Given the description of an element on the screen output the (x, y) to click on. 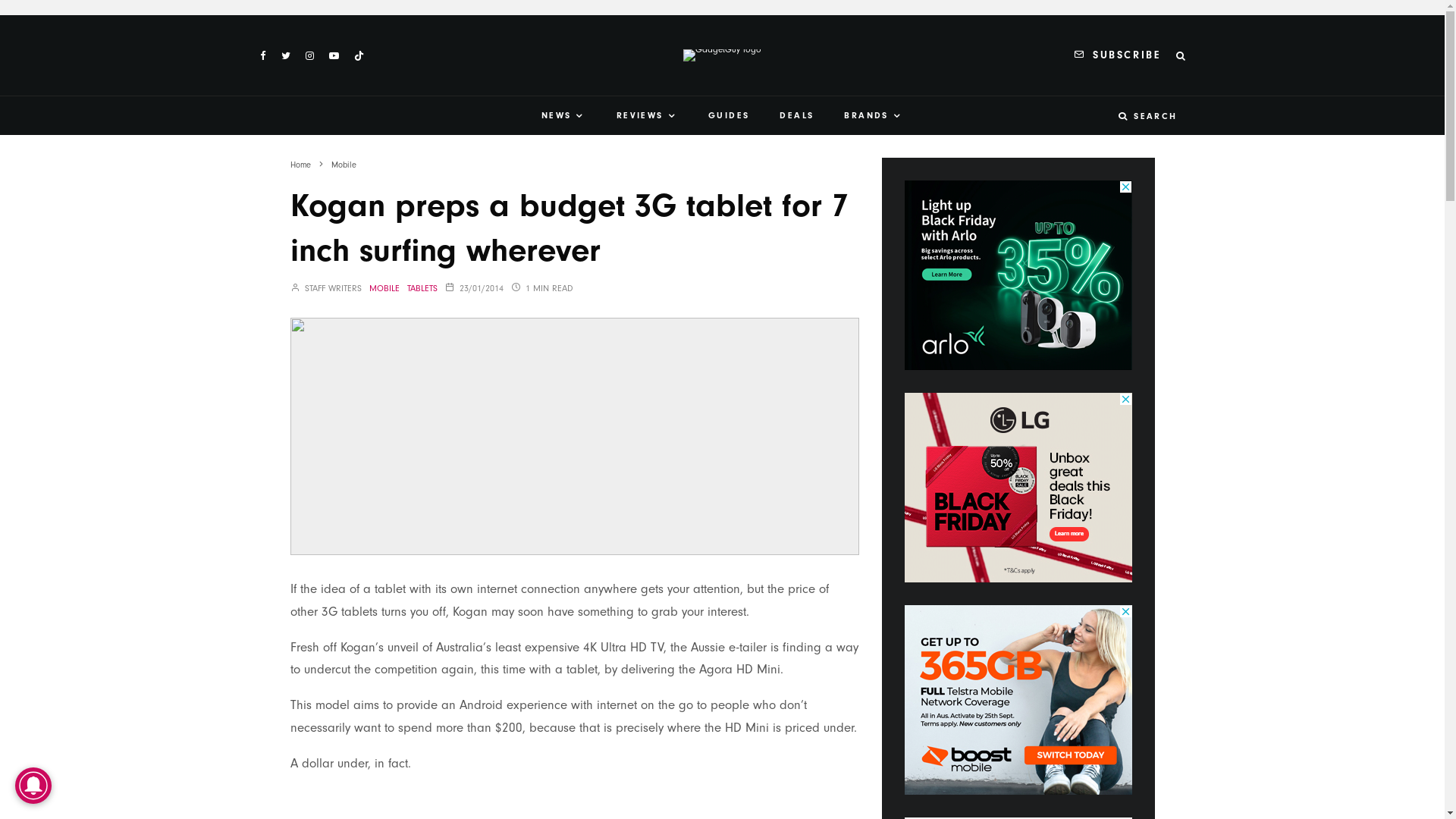
3rd party ad content Element type: hover (1017, 487)
NEWS Element type: text (563, 115)
REVIEWS Element type: text (647, 115)
Sign up Element type: text (867, 526)
3rd party ad content Element type: hover (1017, 699)
DEALS Element type: text (796, 115)
GUIDES Element type: text (728, 115)
TABLETS Element type: text (421, 288)
Home Element type: text (299, 164)
3rd party ad content Element type: hover (1017, 275)
MOBILE Element type: text (383, 288)
SEARCH Element type: text (1147, 115)
BRANDS Element type: text (873, 115)
Mobile Element type: text (342, 164)
SUBSCRIBE Element type: text (1116, 55)
STAFF WRITERS Element type: text (324, 287)
